Given the description of an element on the screen output the (x, y) to click on. 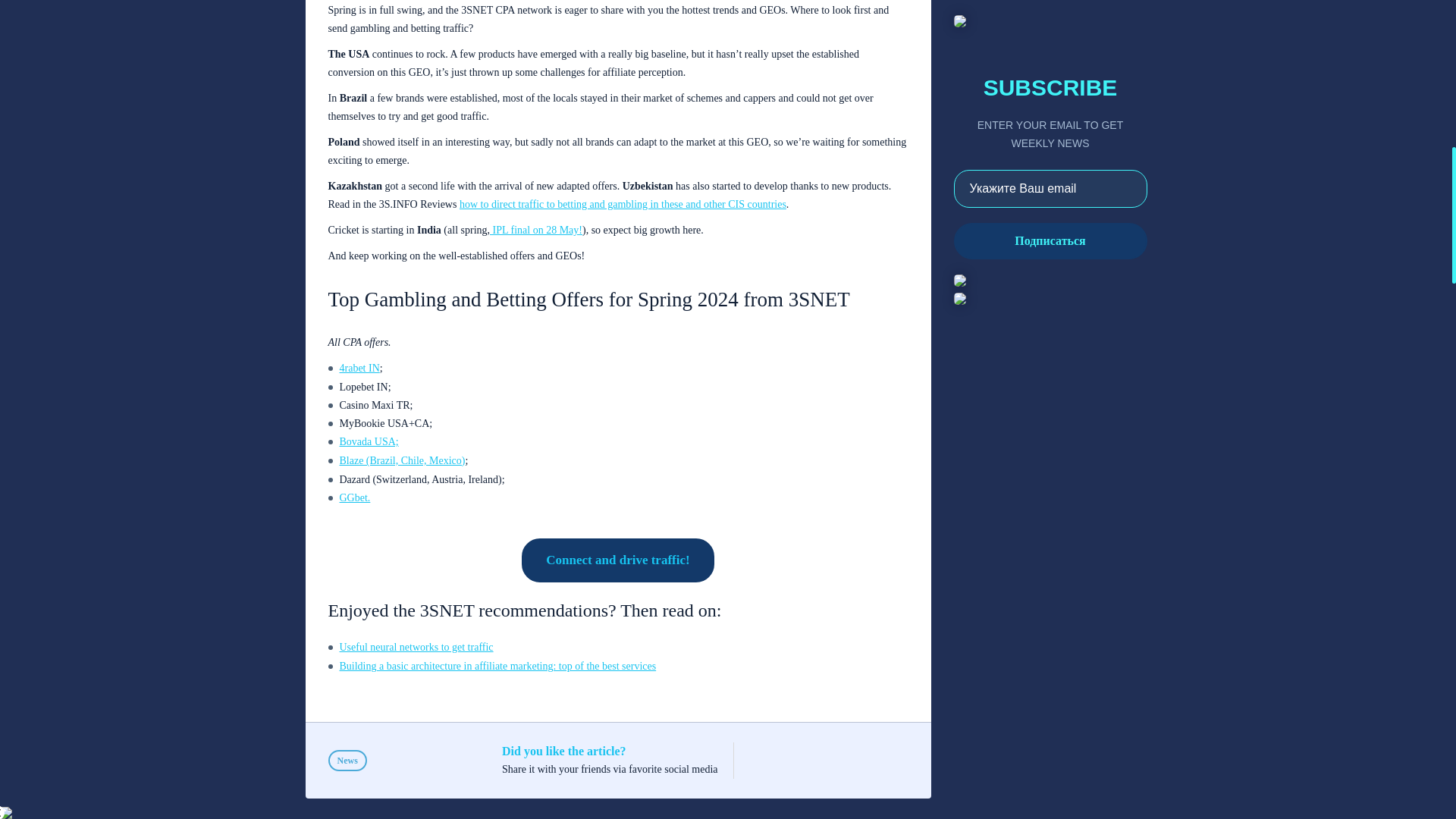
IPL final on 28 May! (535, 229)
Connect and drive traffic! (617, 560)
Bovada USA; (368, 442)
Useful neural networks to get traffic (416, 647)
News (346, 760)
4rabet IN (359, 368)
GGbet. (355, 497)
